Given the description of an element on the screen output the (x, y) to click on. 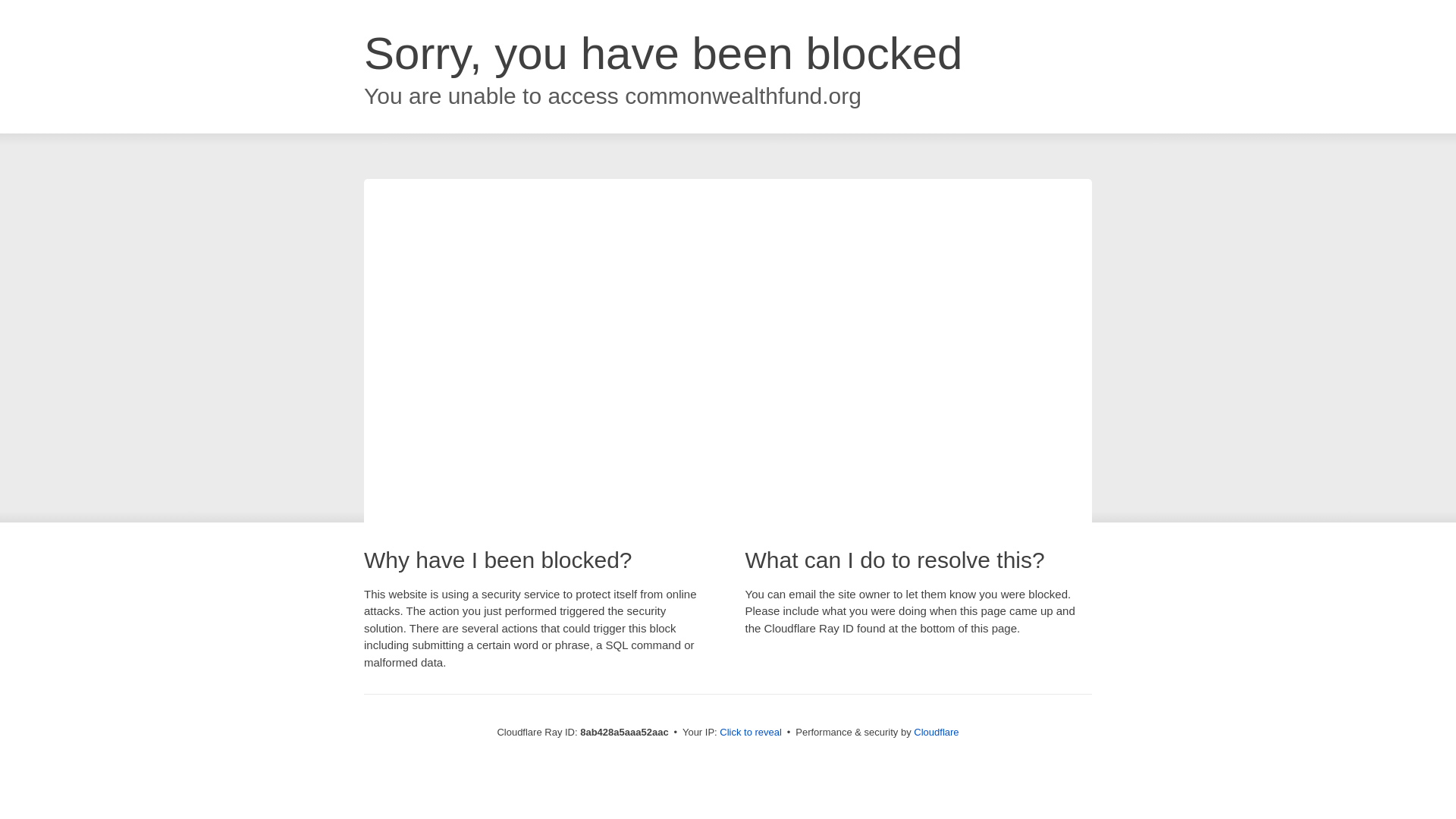
Click to reveal (750, 732)
Cloudflare (936, 731)
